Given the description of an element on the screen output the (x, y) to click on. 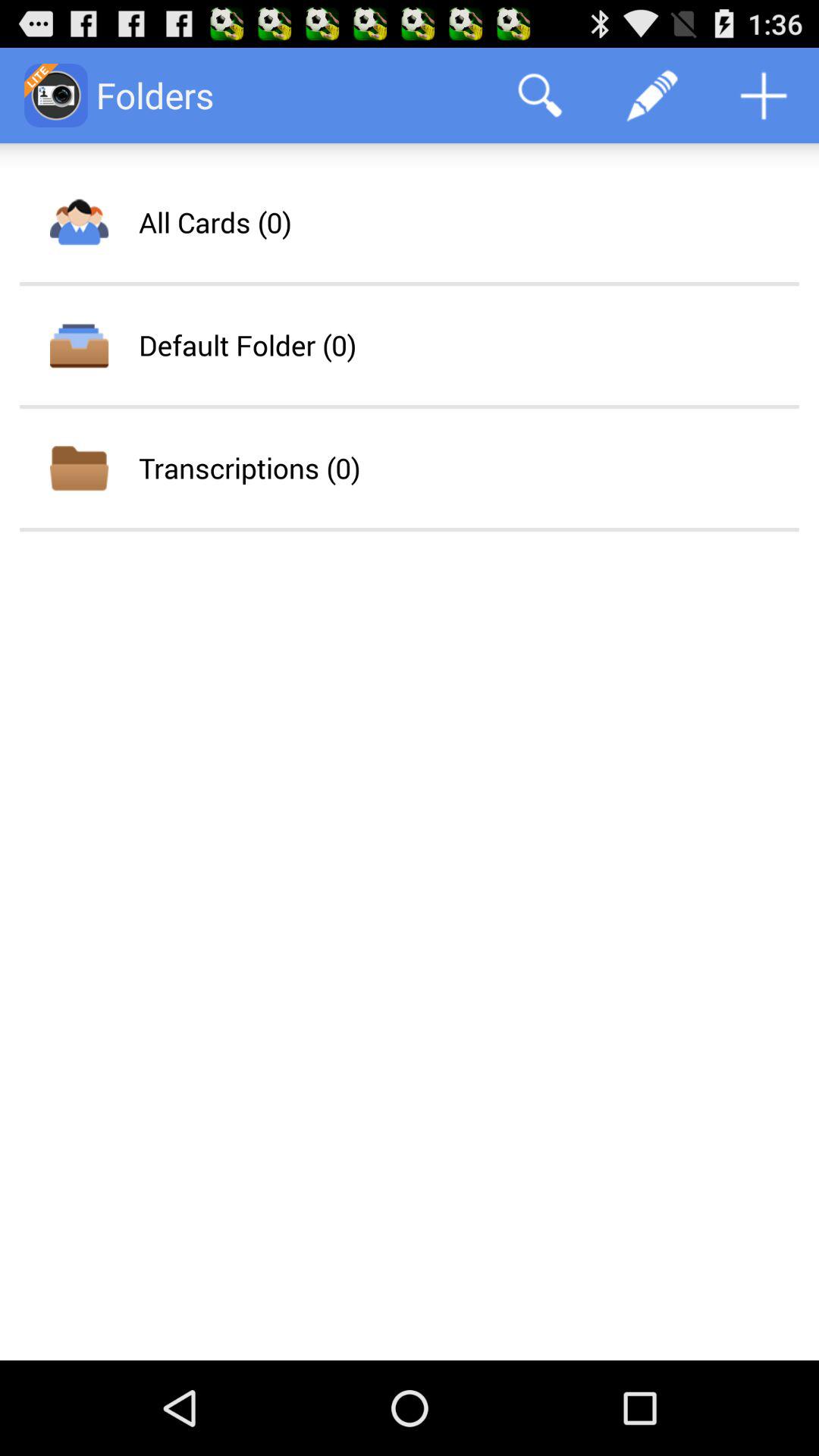
select the item below the folders (214, 222)
